Given the description of an element on the screen output the (x, y) to click on. 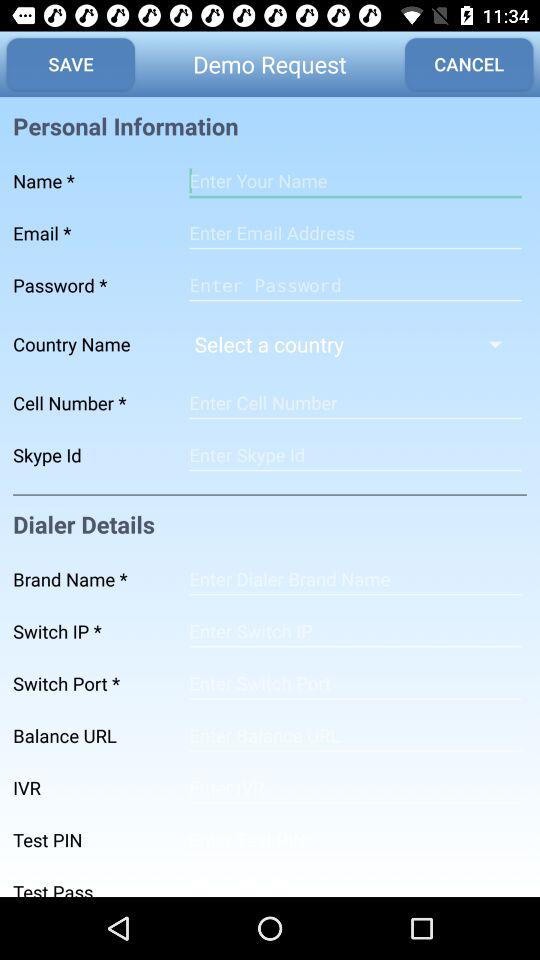
address page (355, 840)
